Given the description of an element on the screen output the (x, y) to click on. 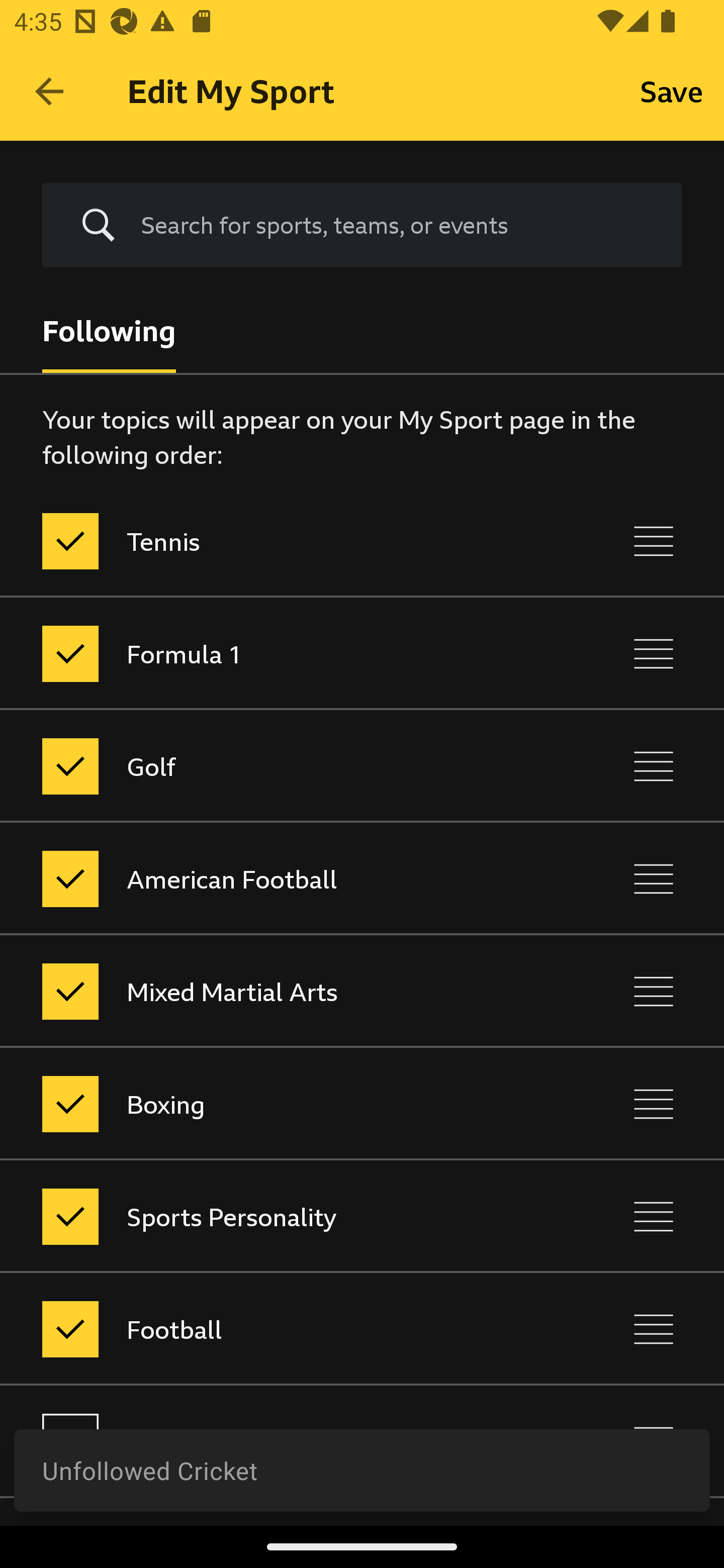
Navigate up (49, 91)
Save (671, 90)
Search for sports, teams, or events (361, 225)
Search for sports, teams, or events (396, 224)
Tennis (277, 540)
Reorder Tennis (653, 540)
Formula 1 (277, 653)
Reorder Formula 1 (653, 653)
Golf (277, 766)
Reorder Golf (653, 766)
American Football (277, 878)
Reorder American Football (653, 878)
Mixed Martial Arts (277, 990)
Reorder Mixed Martial Arts (653, 990)
Boxing (277, 1103)
Reorder Boxing (653, 1103)
Sports Personality (277, 1216)
Reorder Sports Personality (653, 1216)
Football (277, 1329)
Reorder Football (653, 1329)
